Given the description of an element on the screen output the (x, y) to click on. 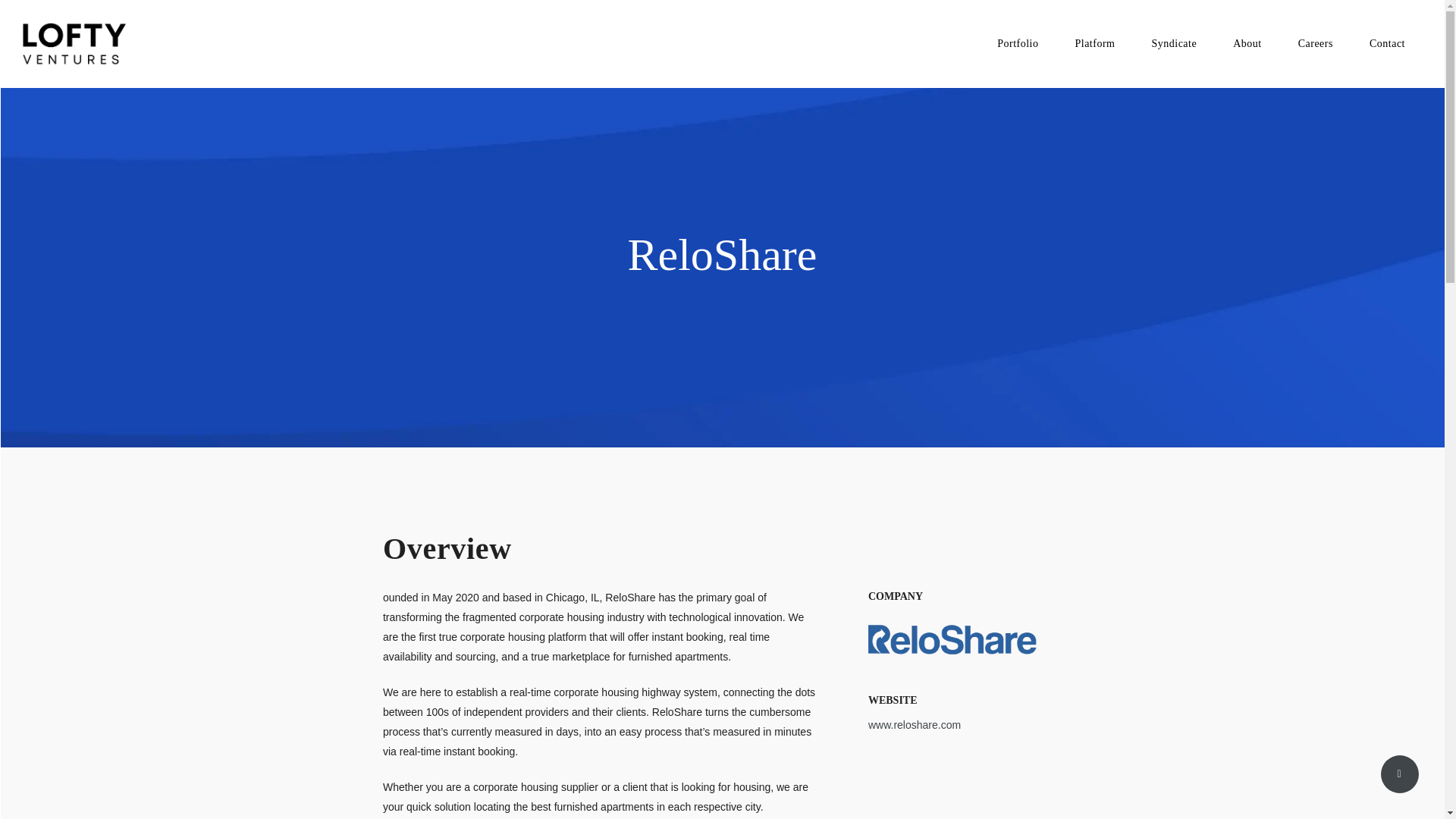
www.reloshare.com (913, 725)
Contact (1387, 43)
Syndicate (1173, 43)
Careers (1315, 43)
About (1246, 43)
Platform (1094, 43)
Portfolio (1017, 43)
